Given the description of an element on the screen output the (x, y) to click on. 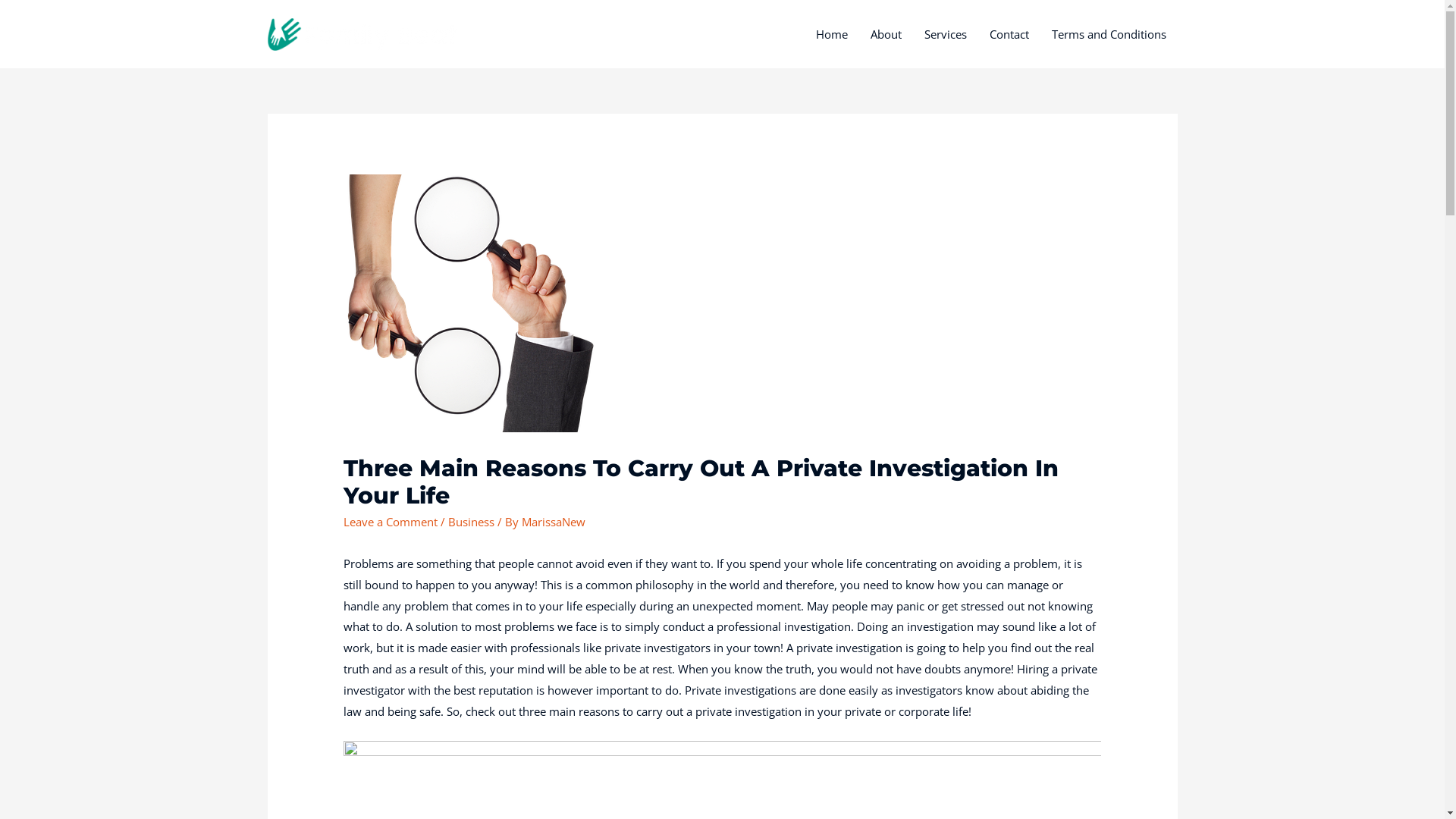
MarissaNew Element type: text (553, 521)
Leave a Comment Element type: text (390, 521)
Home Element type: text (830, 33)
Services Element type: text (945, 33)
About Element type: text (885, 33)
Business Element type: text (471, 521)
Terms and Conditions Element type: text (1108, 33)
Contact Element type: text (1009, 33)
